Given the description of an element on the screen output the (x, y) to click on. 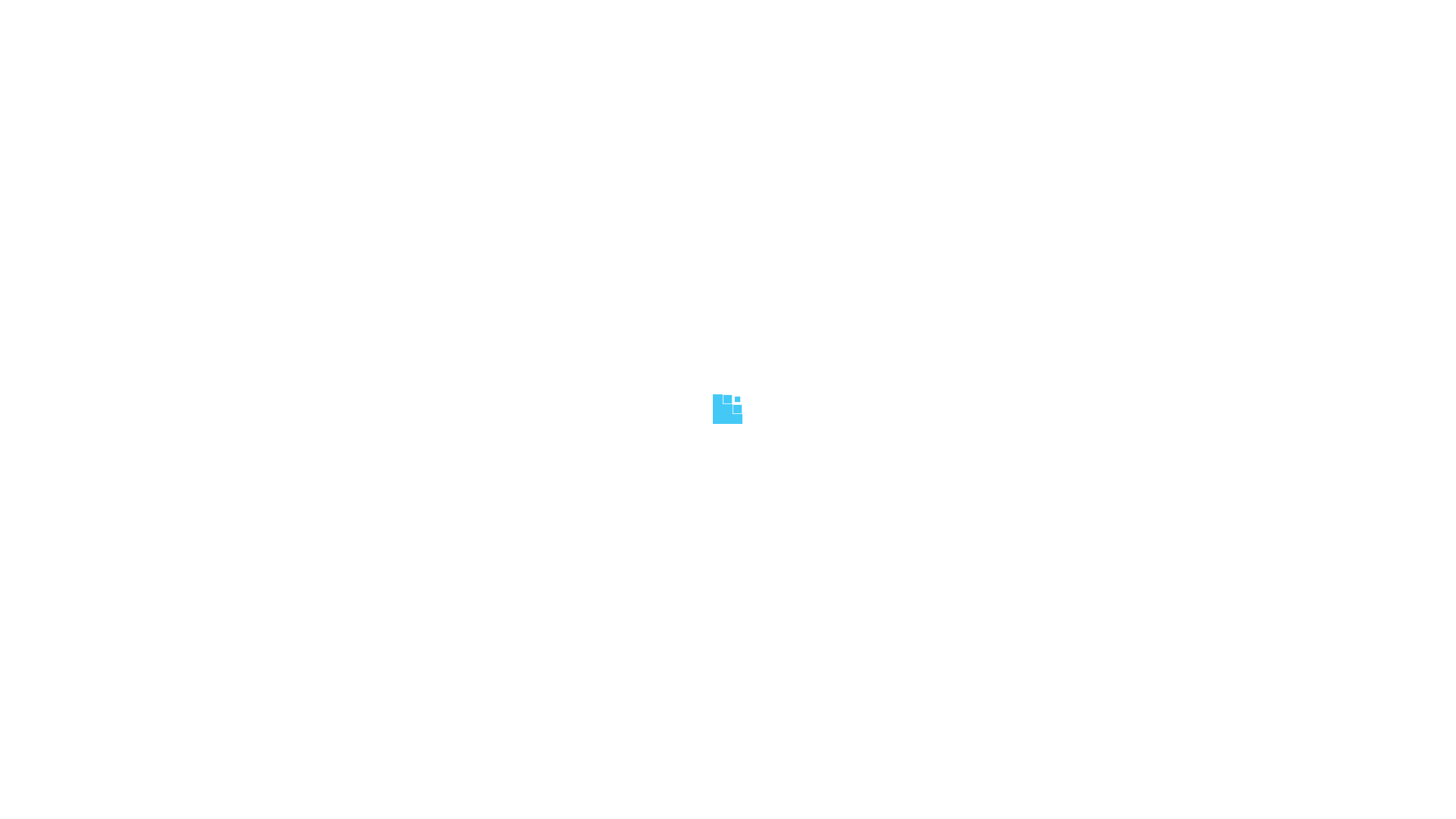
Python Element type: text (904, 392)
RamplotR Element type: text (351, 317)
Blogs Element type: text (1126, 143)
Fasta to GFA Element type: text (939, 317)
About us Element type: text (503, 8)
Services Element type: text (546, 8)
MS-PEP data analyzer Element type: text (692, 317)
About Howest Element type: text (776, 554)
Latest blogs Element type: text (771, 590)
Contact Element type: text (668, 8)
NEDERLANDS Element type: text (511, 35)
Home Element type: text (465, 8)
Home Element type: text (1058, 143)
Contact us Element type: text (768, 609)
Rshiny Element type: text (327, 374)
Our GitHub Element type: text (770, 572)
Rshiny Element type: text (616, 411)
News and blogs Element type: text (608, 8)
